Given the description of an element on the screen output the (x, y) to click on. 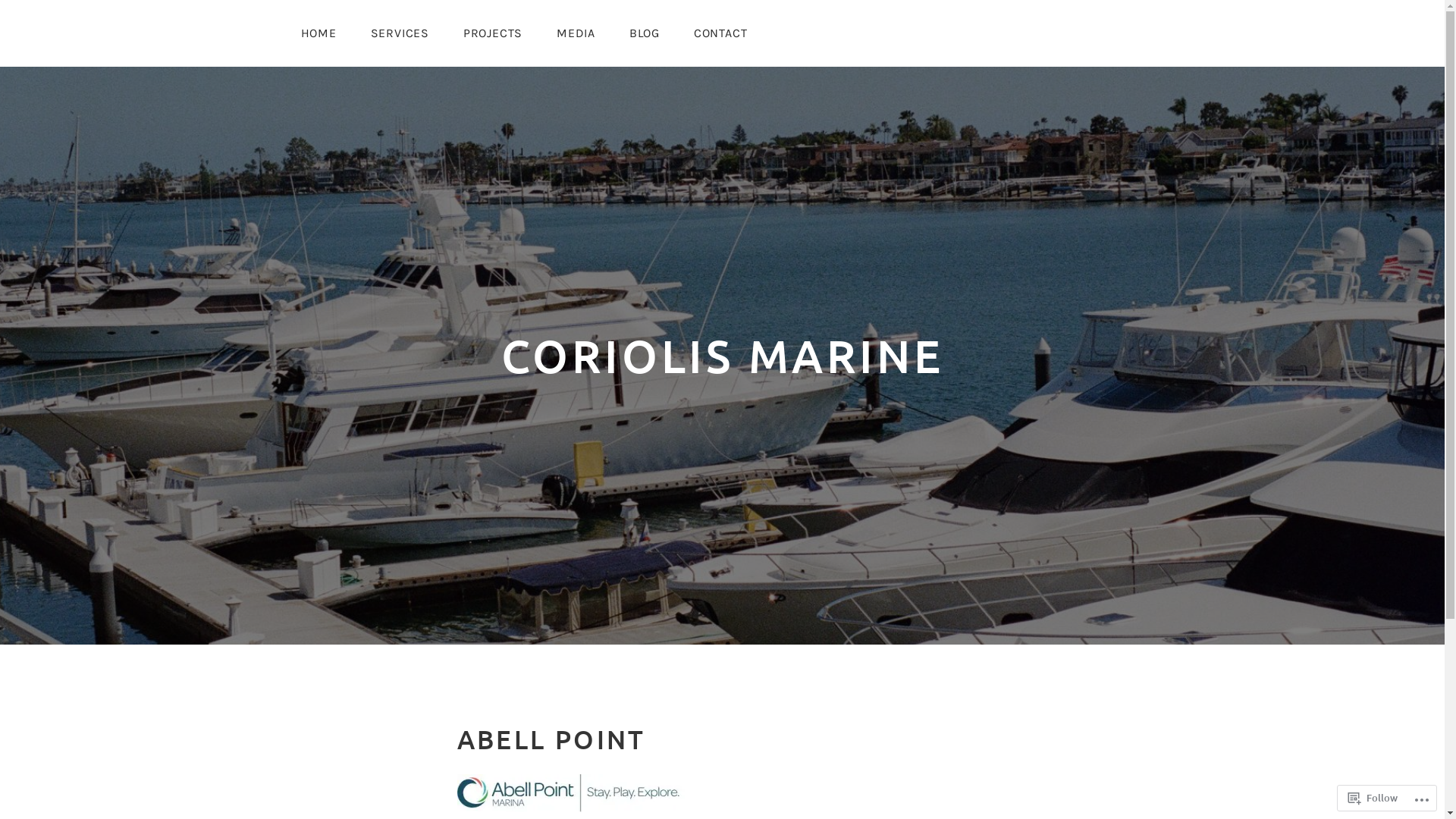
Follow Element type: text (1372, 797)
BLOG Element type: text (644, 33)
PROJECTS Element type: text (492, 33)
CORIOLIS MARINE Element type: text (721, 355)
CONTACT Element type: text (720, 33)
MEDIA Element type: text (575, 33)
HOME Element type: text (318, 33)
SERVICES Element type: text (399, 33)
